Given the description of an element on the screen output the (x, y) to click on. 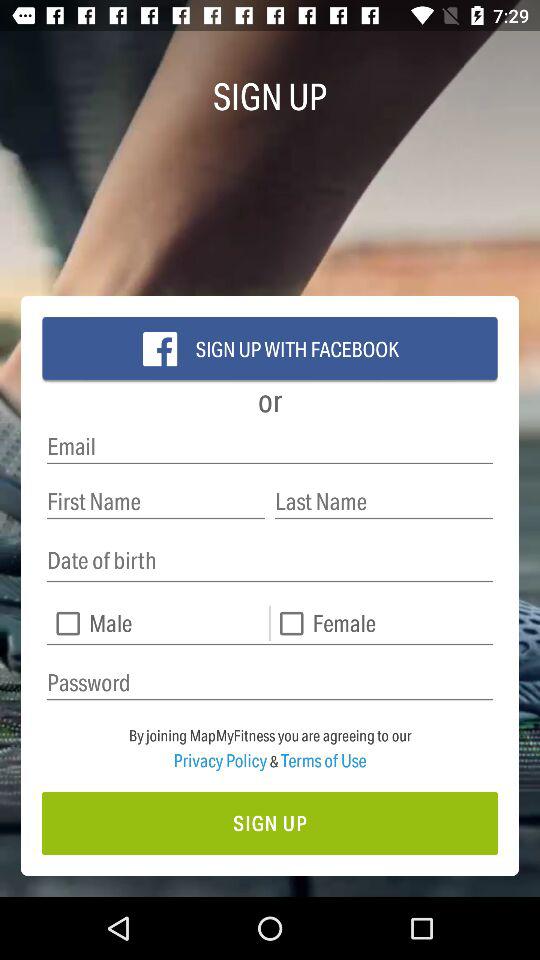
type your email (270, 446)
